Given the description of an element on the screen output the (x, y) to click on. 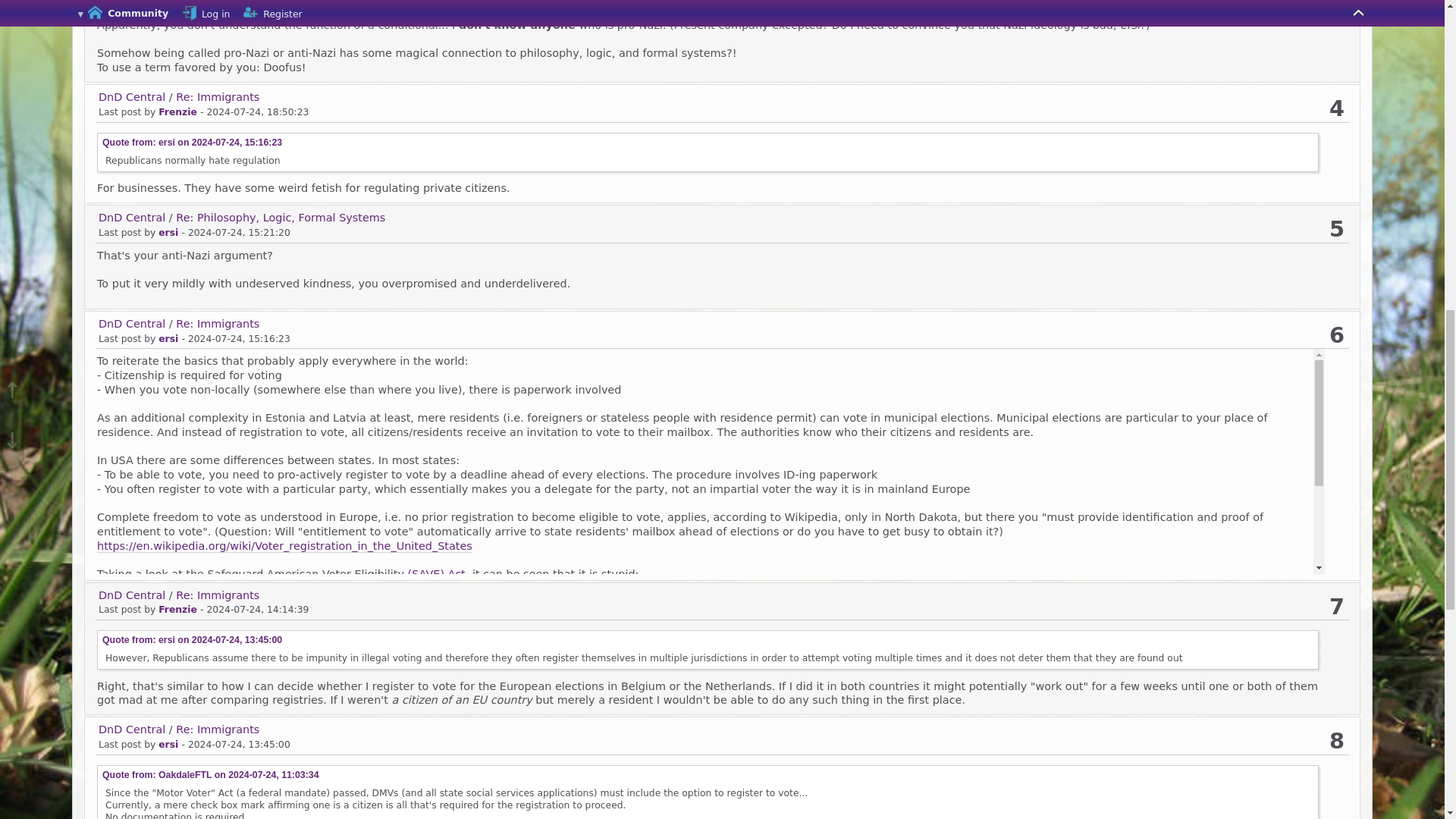
Last post (257, 609)
Last post (238, 232)
Last post (237, 142)
DnD Central (132, 96)
Last post (257, 112)
Last post (238, 338)
Quote from: ersi on 2024-07-24, 15:16:23 (191, 142)
Re: Immigrants (217, 96)
Frenzie (177, 112)
